Given the description of an element on the screen output the (x, y) to click on. 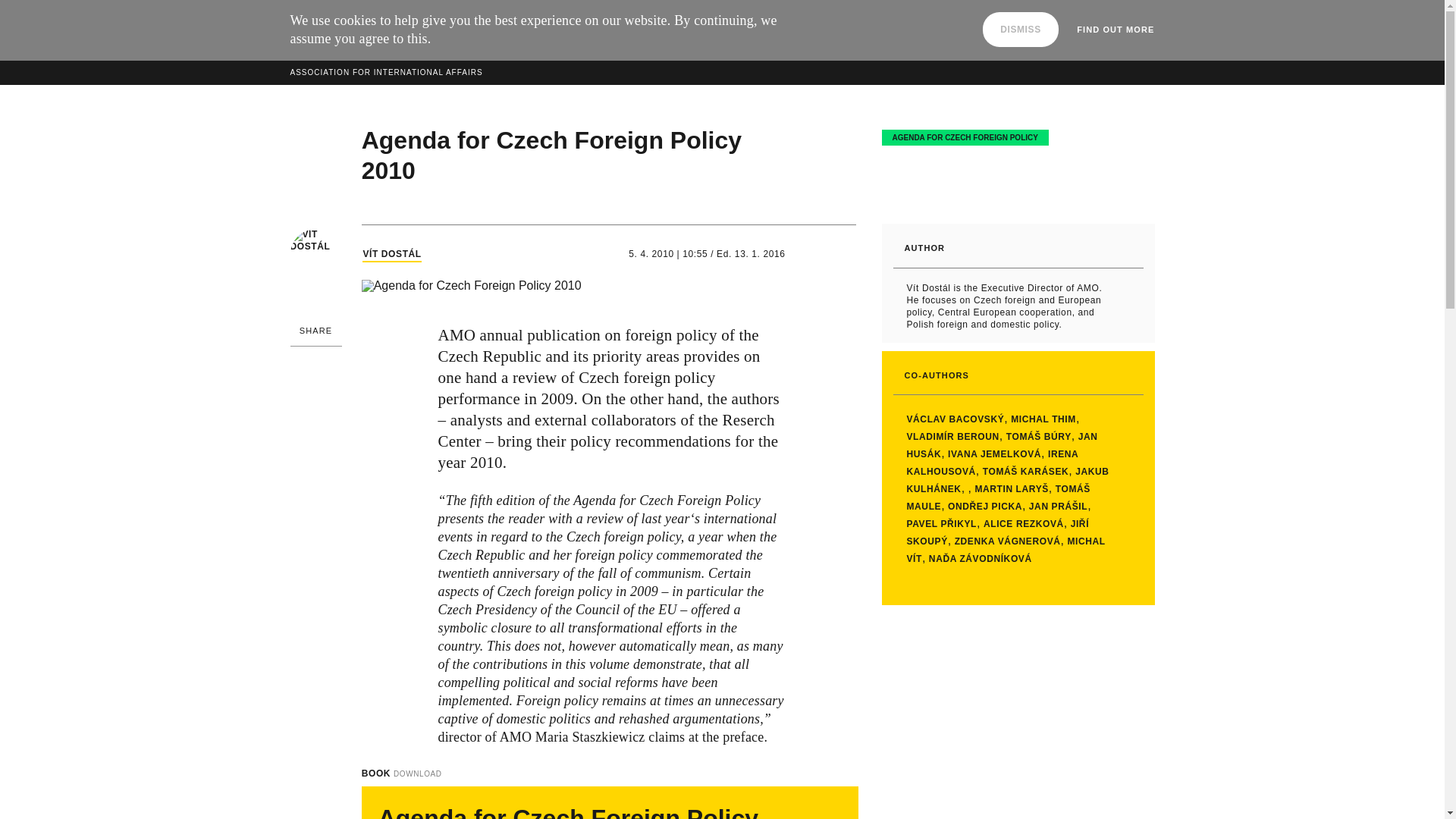
Agenda for Czech Foreign Policy 2010 (568, 811)
Facebook (314, 379)
ENGLISH (1033, 56)
FIND OUT MORE (1115, 30)
Projects (451, 54)
Send (515, 1)
People (528, 54)
Articles and publications (708, 54)
Twitter (314, 429)
Search (1127, 54)
